Given the description of an element on the screen output the (x, y) to click on. 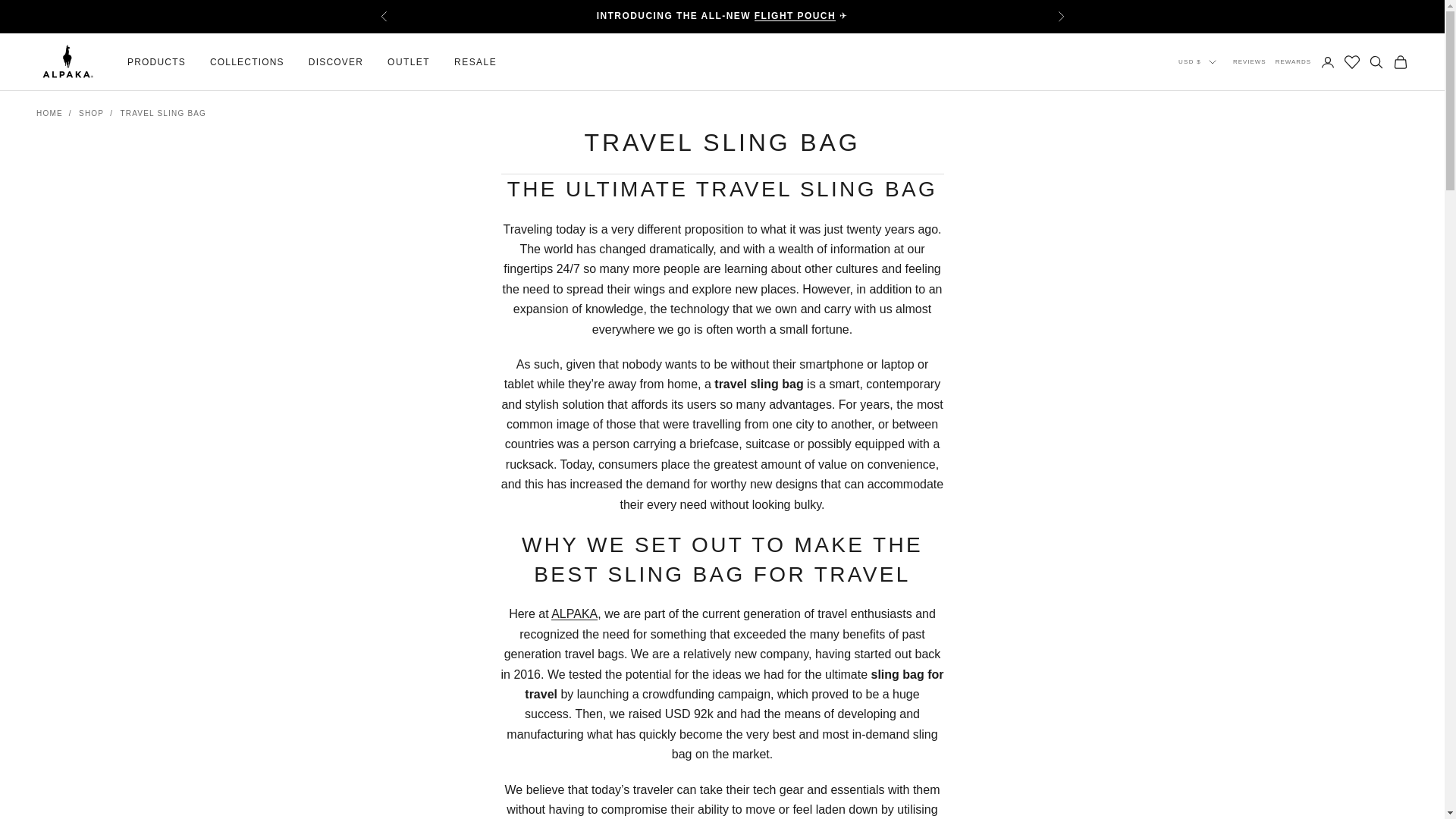
FLIGHT POUCH (794, 15)
ALPAKA (66, 61)
Flight Pouch (794, 15)
